Given the description of an element on the screen output the (x, y) to click on. 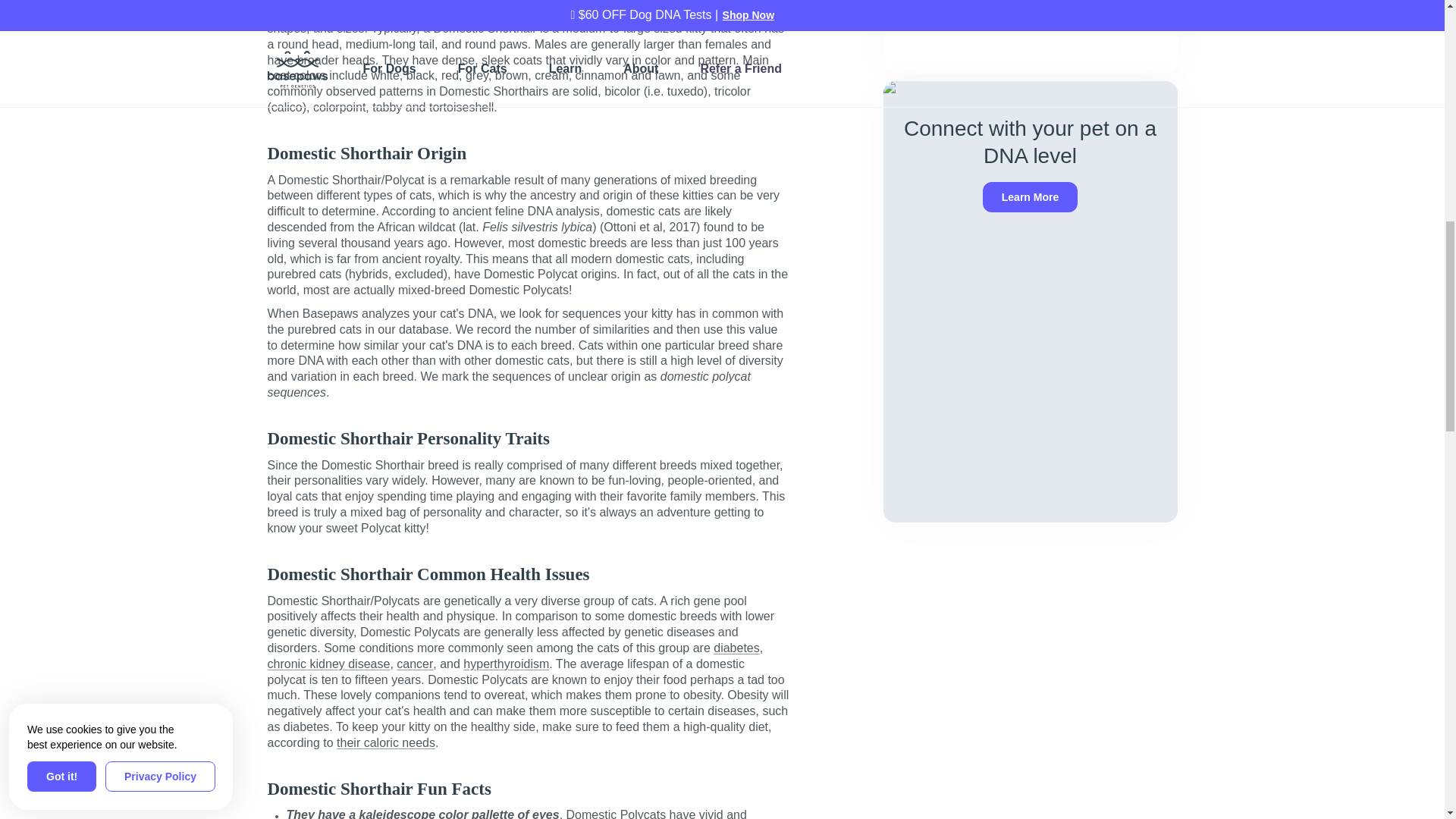
chronic kidney disease (328, 664)
hyperthyroidism (505, 664)
cancer (414, 664)
their caloric needs (385, 743)
diabetes (736, 648)
